Given the description of an element on the screen output the (x, y) to click on. 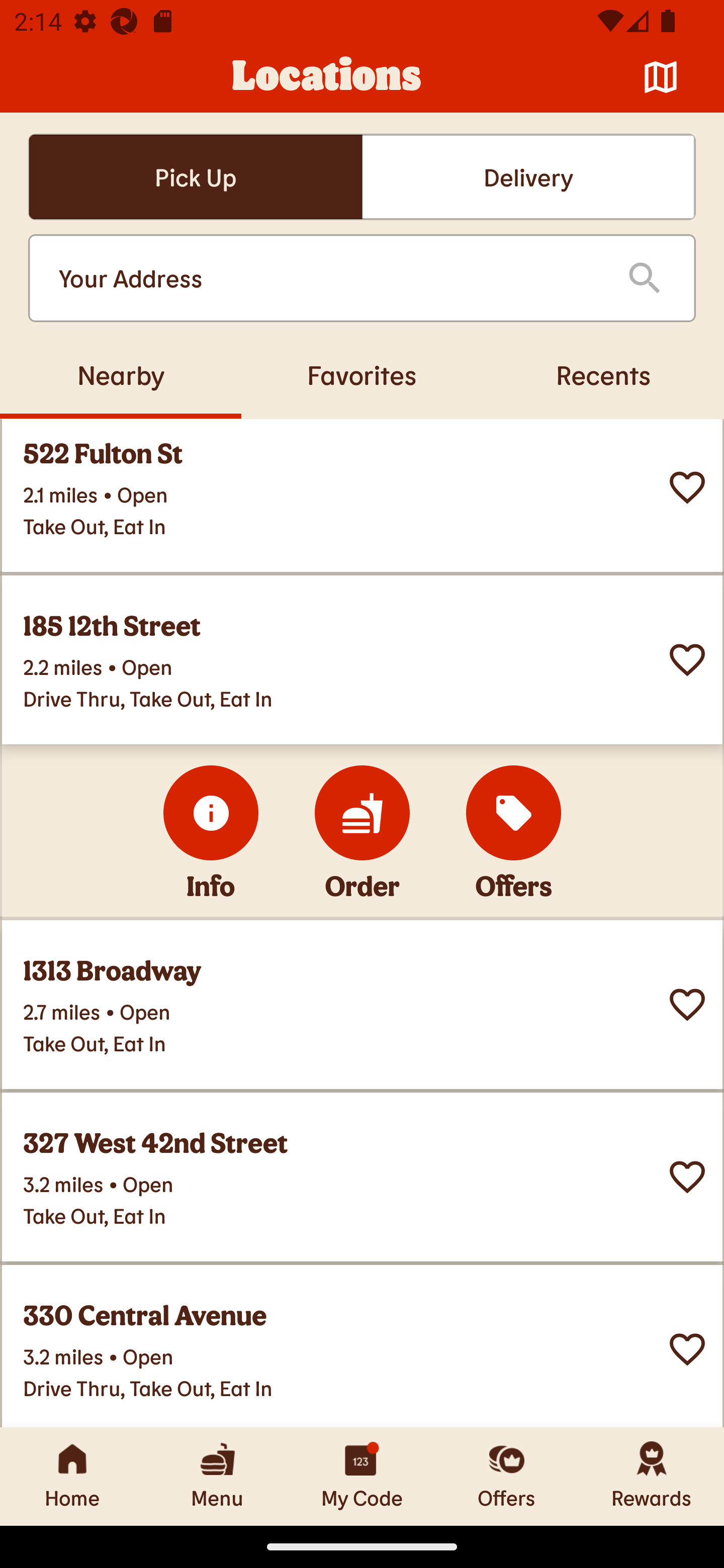
Map 󰦂 (660, 77)
Locations (326, 77)
Pick UpSelected Pick UpSelected Pick Up (195, 176)
Delivery Delivery Delivery (528, 176)
Your Address (327, 277)
Nearby (120, 374)
Favorites (361, 374)
Recents (603, 374)
Set this restaurant as a favorite  (687, 486)
Set this restaurant as a favorite  (687, 659)
Info  (210, 812)
Order (361, 812)
Offers  (513, 812)
Set this restaurant as a favorite  (687, 1004)
Set this restaurant as a favorite  (687, 1176)
Set this restaurant as a favorite  (687, 1348)
Home (72, 1475)
Menu (216, 1475)
My Code (361, 1475)
Offers (506, 1475)
Rewards (651, 1475)
